Given the description of an element on the screen output the (x, y) to click on. 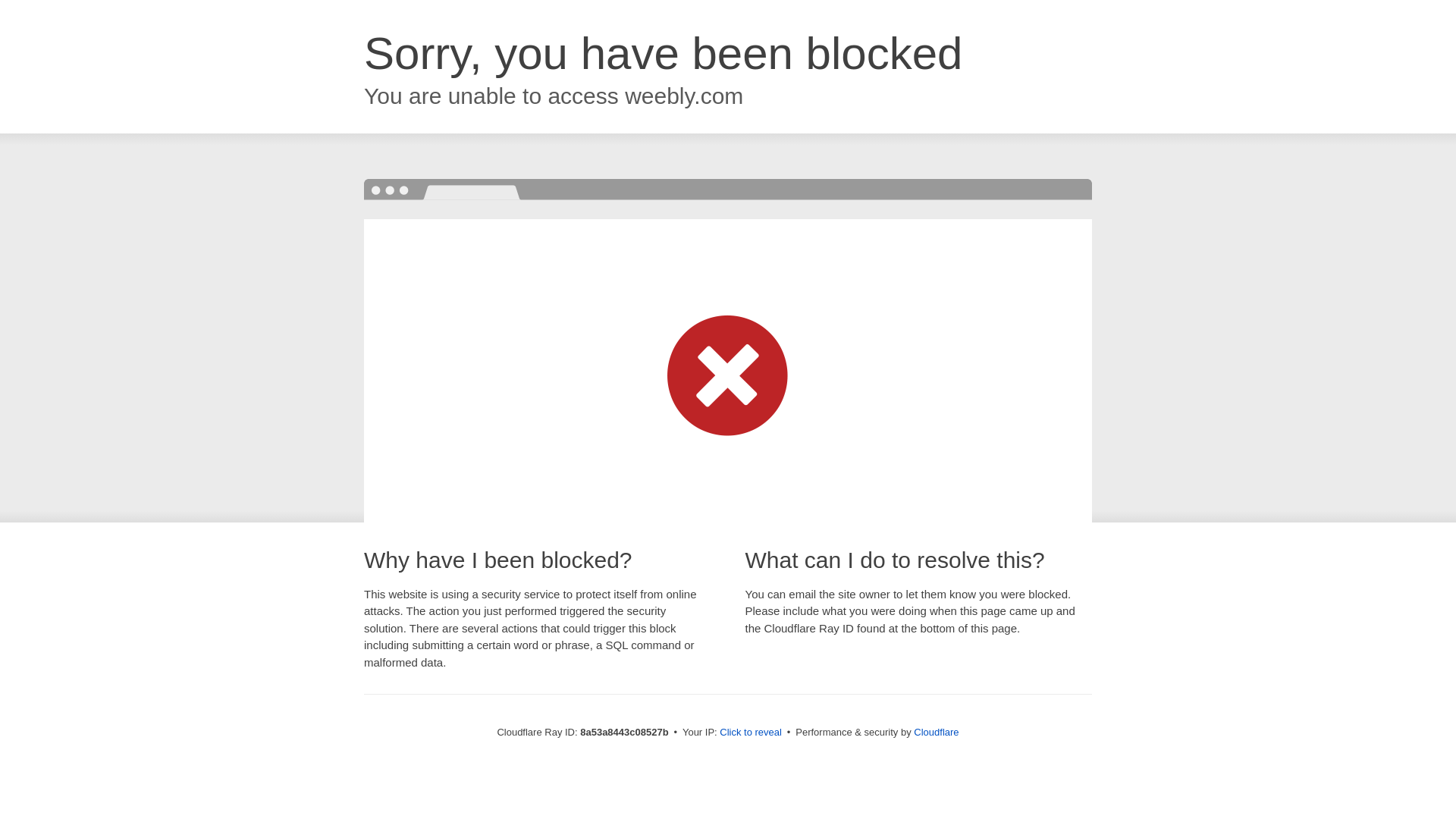
Cloudflare (936, 731)
Click to reveal (750, 732)
